Given the description of an element on the screen output the (x, y) to click on. 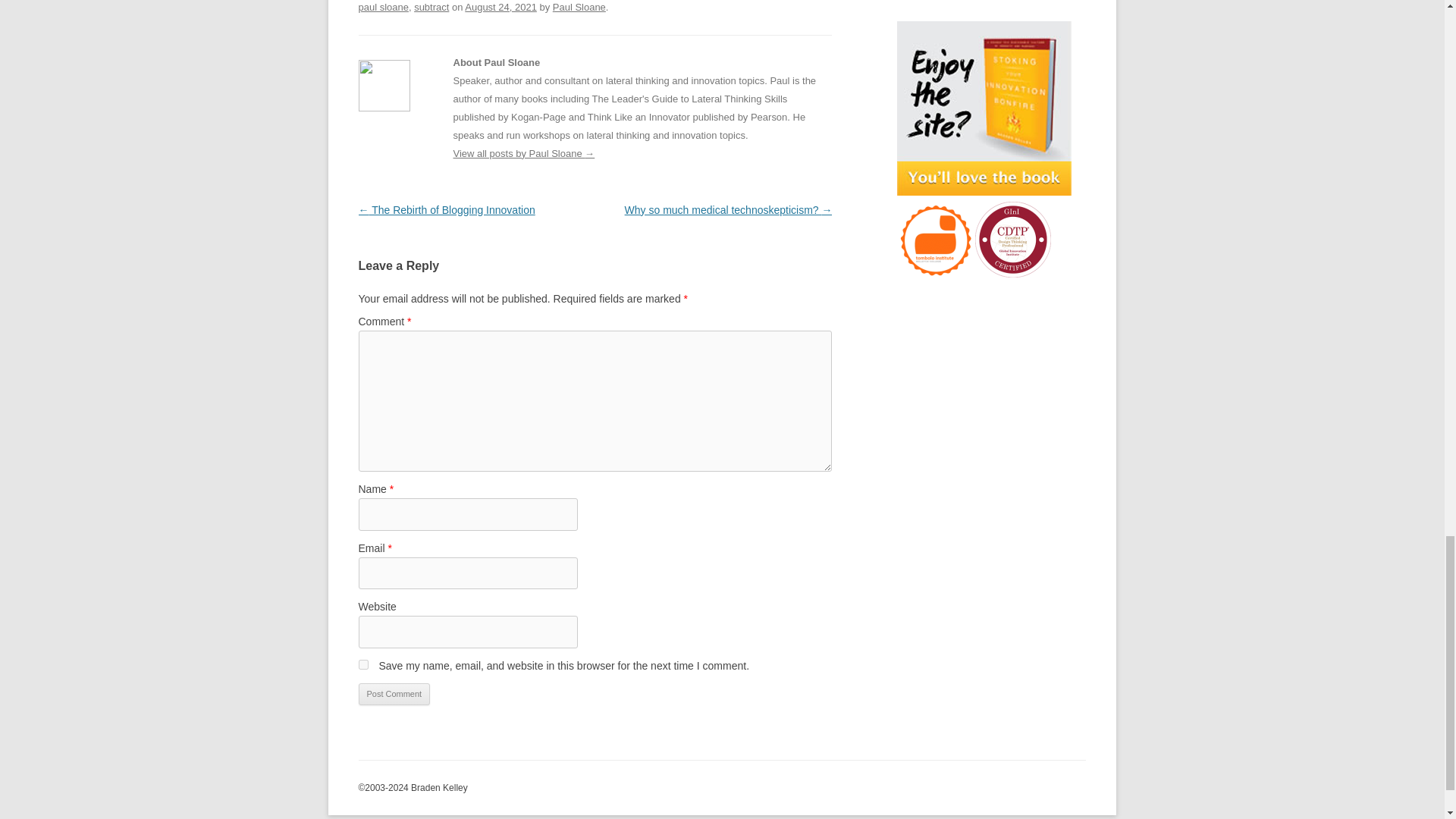
View all posts by Paul Sloane (579, 7)
yes (363, 664)
8:00 am (500, 7)
Get your copy of 'Stoking Your Innovation Bonfire' (983, 108)
Post Comment (393, 694)
